Given the description of an element on the screen output the (x, y) to click on. 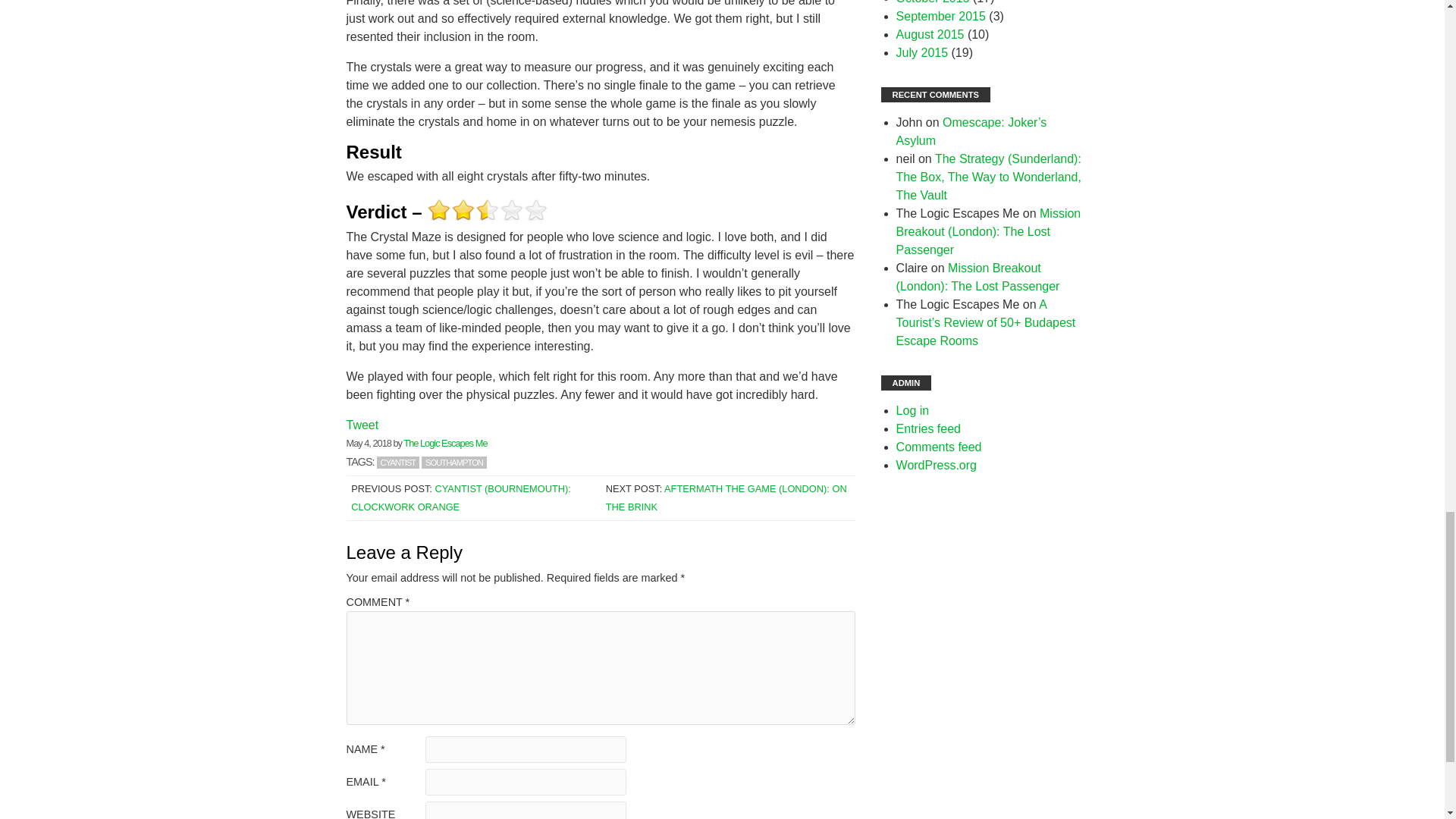
Posts by The Logic Escapes Me (444, 442)
Friday, May 4, 2018, 5:12 pm (368, 442)
